Given the description of an element on the screen output the (x, y) to click on. 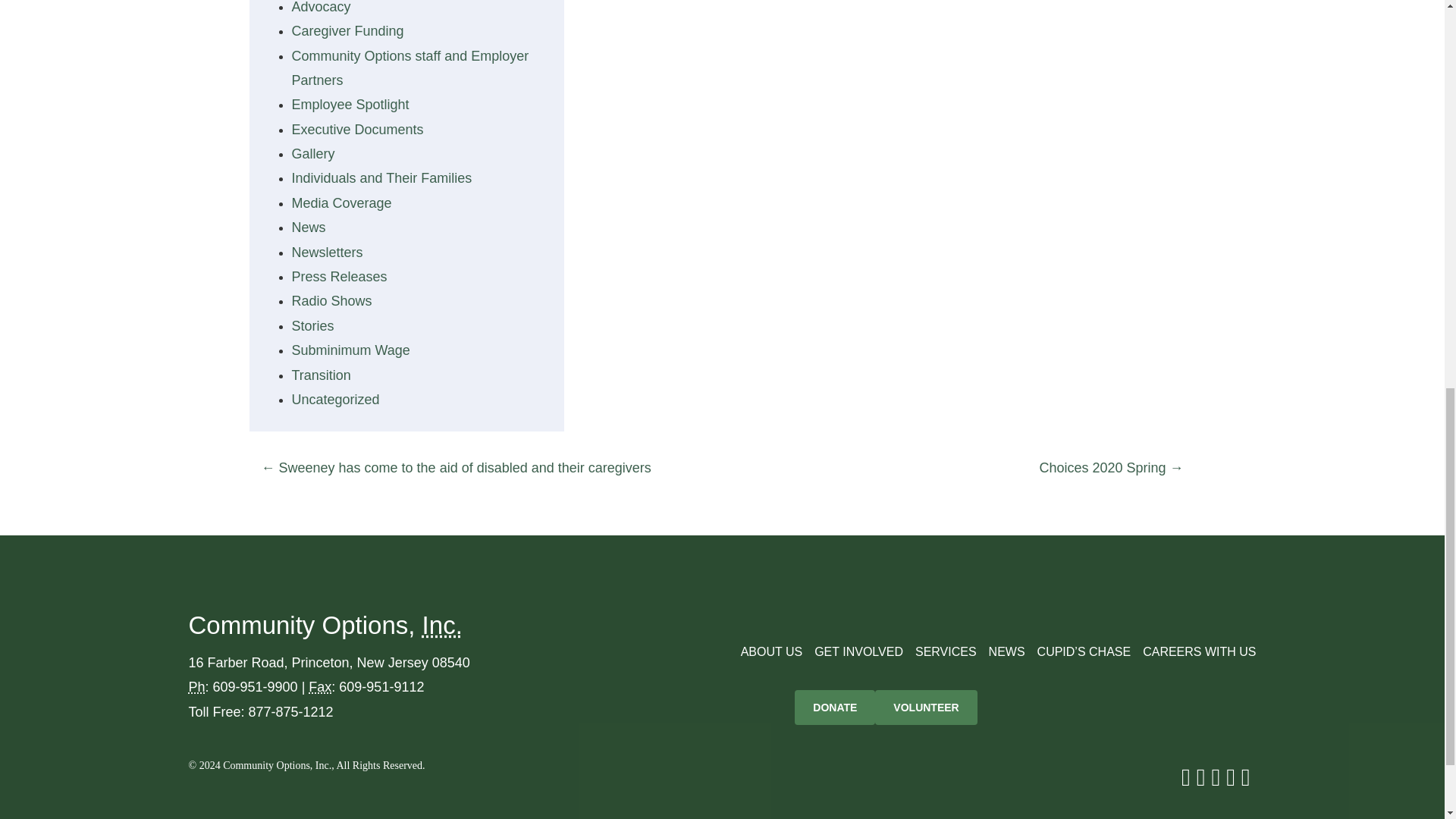
Incorporated (442, 624)
Facsimile (319, 686)
Phone (196, 686)
